Given the description of an element on the screen output the (x, y) to click on. 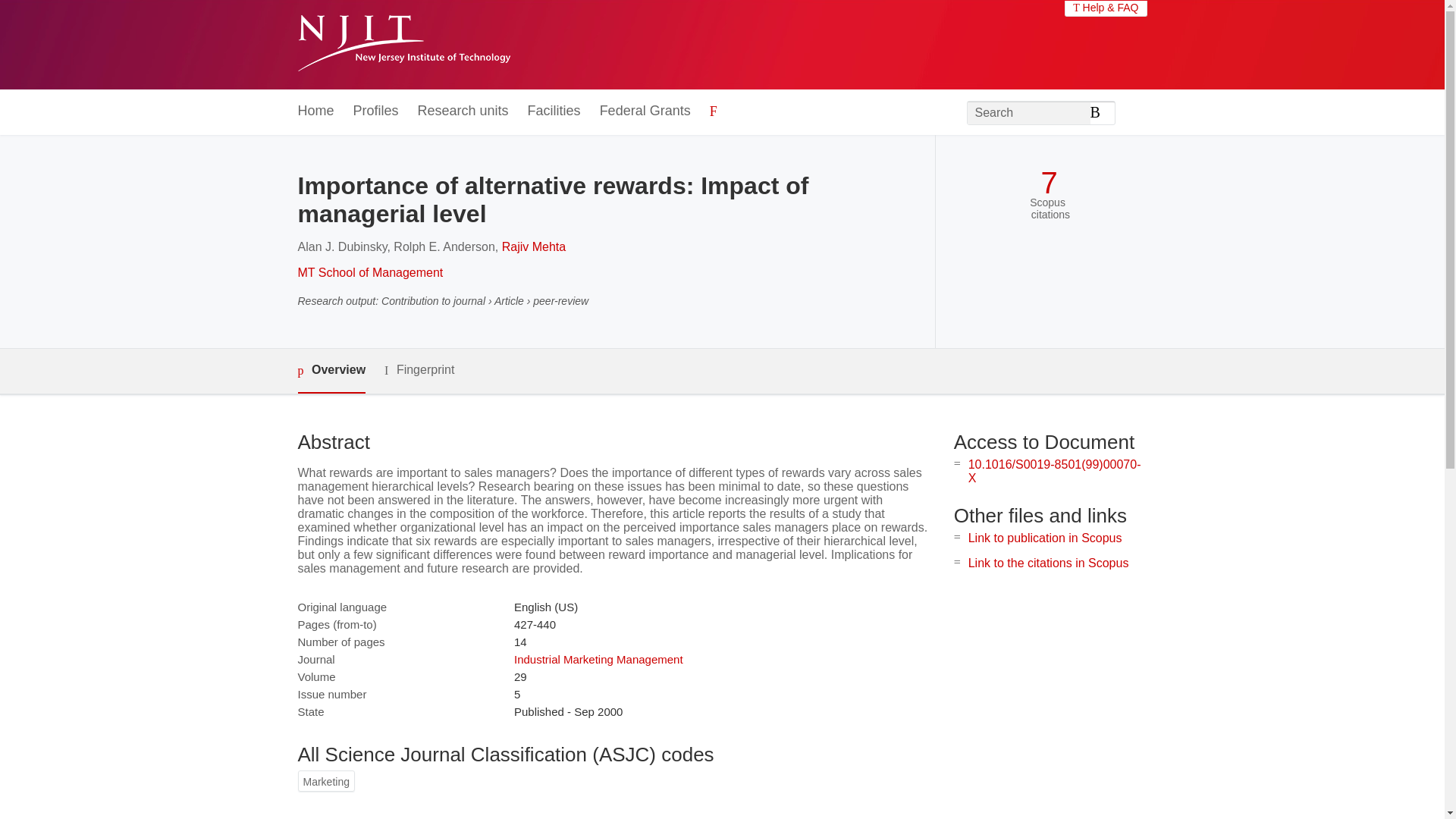
Overview (331, 370)
Link to the citations in Scopus (1048, 562)
Industrial Marketing Management (597, 658)
Facilities (553, 111)
Rajiv Mehta (534, 246)
MT School of Management (369, 272)
Profiles (375, 111)
Research units (462, 111)
Federal Grants (644, 111)
